Given the description of an element on the screen output the (x, y) to click on. 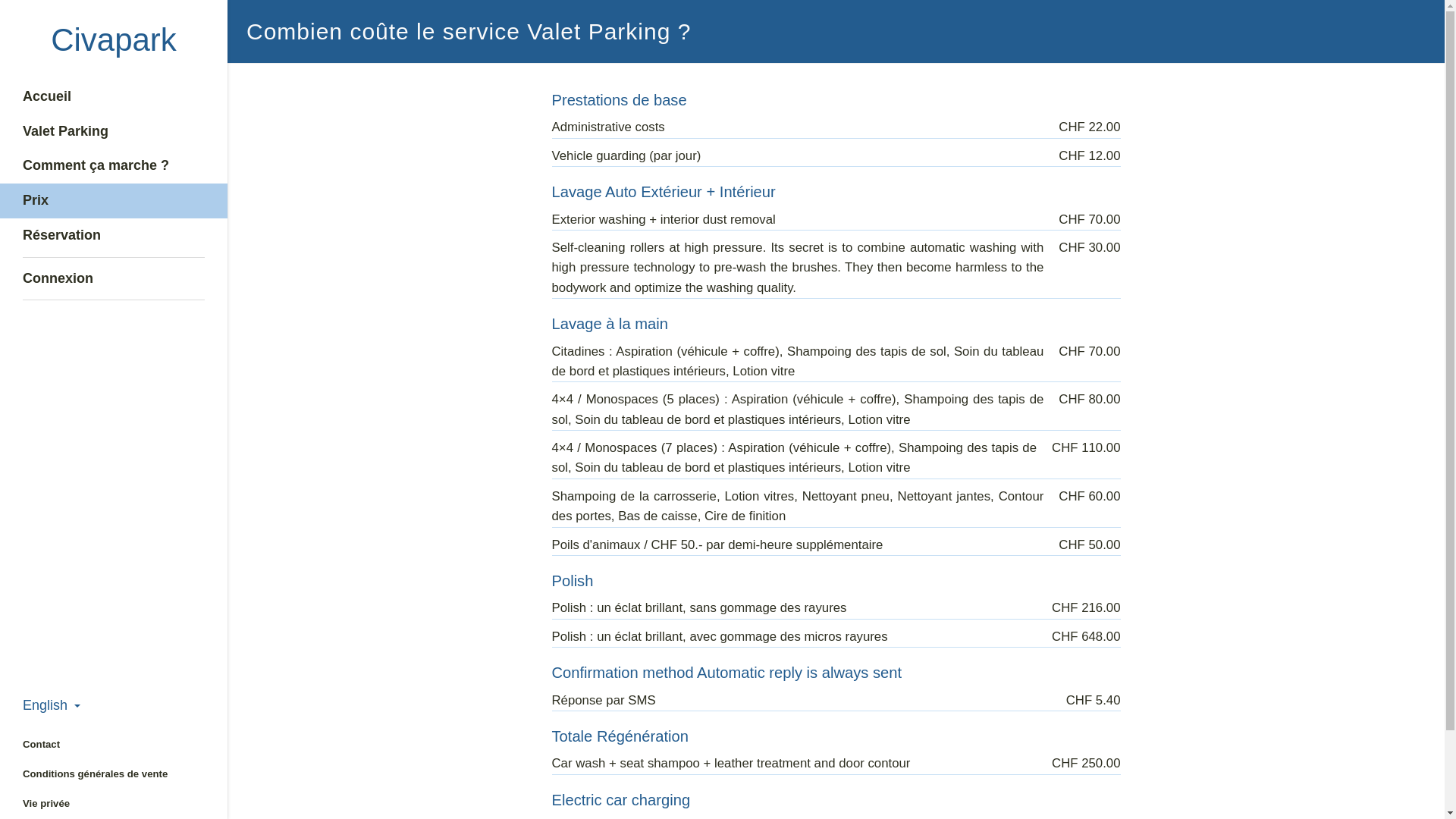
English Element type: text (51, 704)
Accueil Element type: text (113, 96)
Civapark Element type: text (113, 39)
Contact Element type: text (113, 744)
Connexion Element type: text (113, 278)
Prix Element type: text (113, 200)
Valet Parking Element type: text (113, 131)
